Given the description of an element on the screen output the (x, y) to click on. 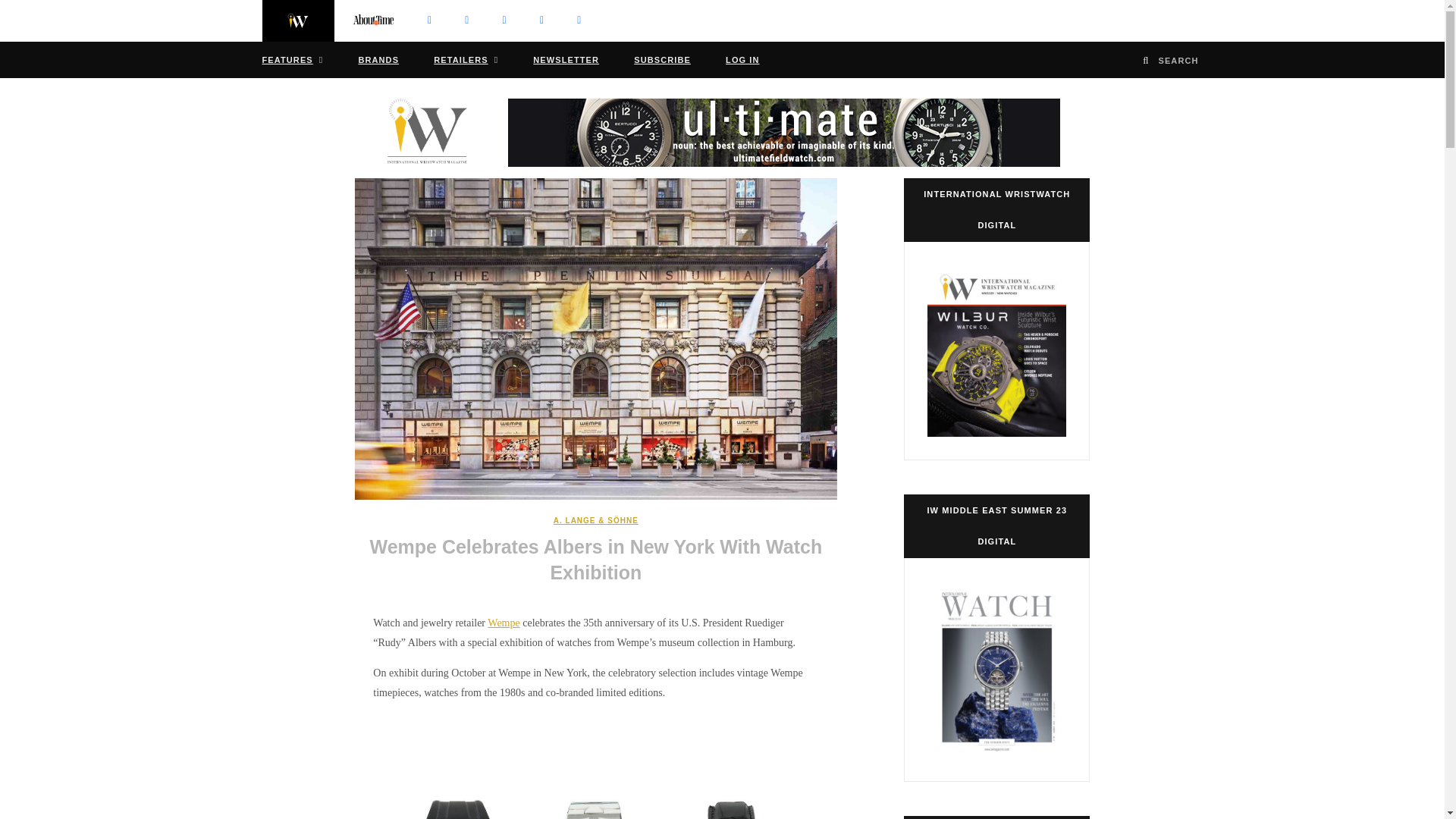
FEATURES (292, 59)
International Wristwatch (446, 132)
